Given the description of an element on the screen output the (x, y) to click on. 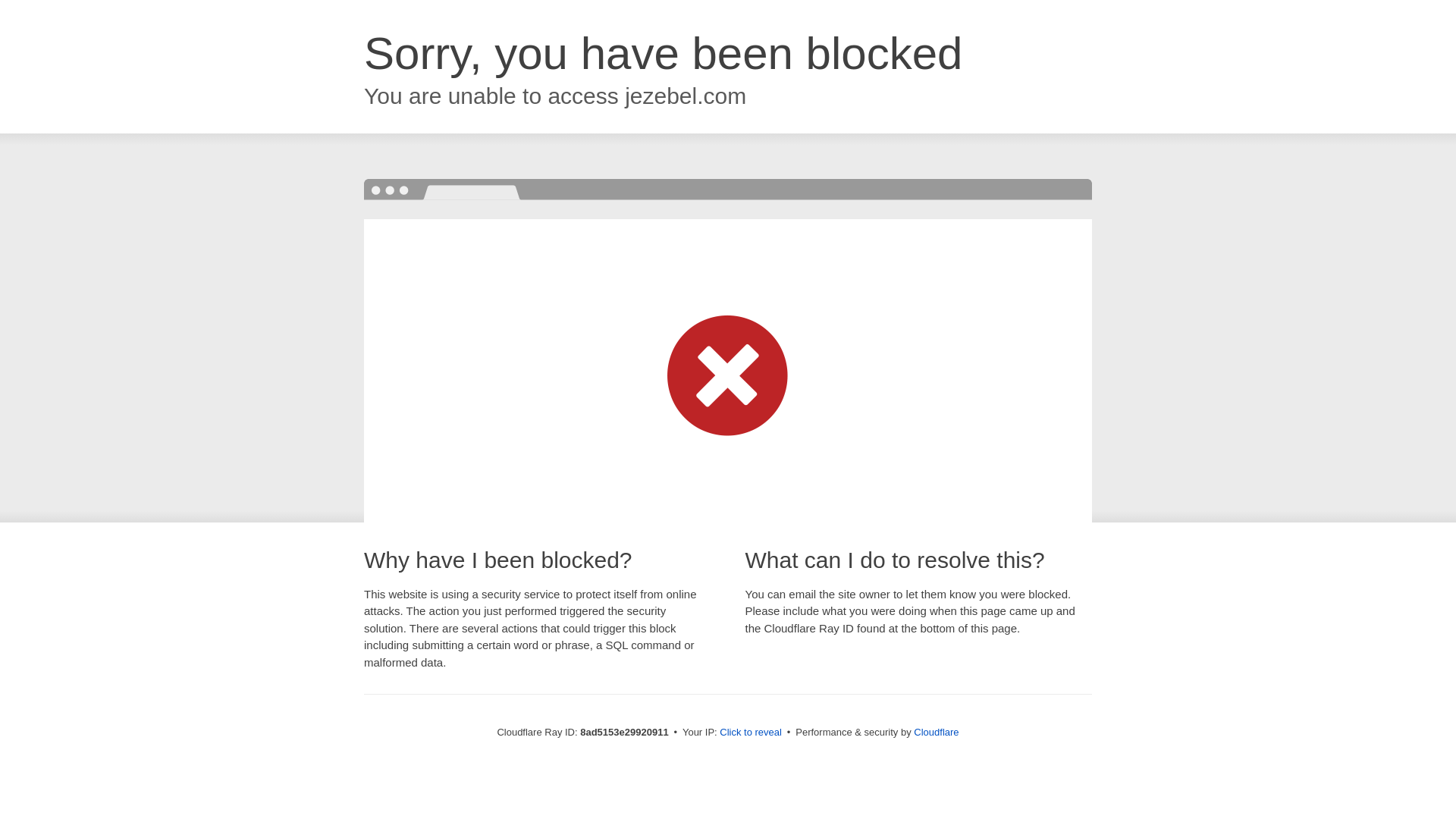
Click to reveal (750, 732)
Cloudflare (936, 731)
